Given the description of an element on the screen output the (x, y) to click on. 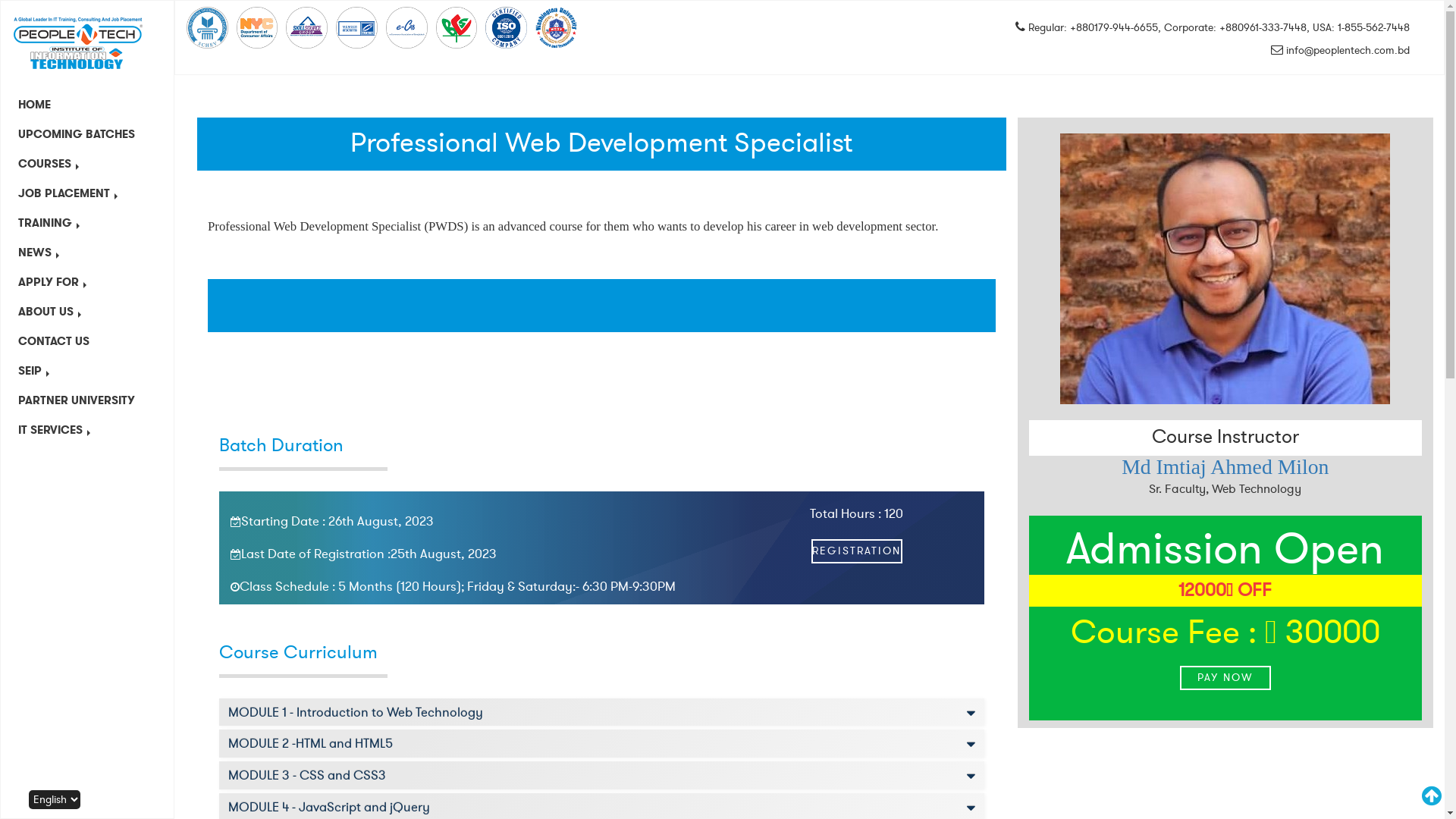
PAY NOW Element type: text (1225, 677)
APPLY FOR Element type: text (86, 282)
PeopleNTech Certification Element type: hover (257, 27)
JOB PLACEMENT Element type: text (86, 193)
HOME Element type: text (86, 104)
PeopleNTech Certification Element type: hover (556, 27)
PeopleNTech Institute of Information Technology Element type: hover (78, 43)
PeopleNTech Certification Element type: hover (207, 27)
PeopleNTech Certification Element type: hover (506, 27)
ABOUT US Element type: text (86, 311)
PeopleNTech Certification Element type: hover (306, 27)
PeopleNTech Certification Element type: hover (456, 27)
IT SERVICES Element type: text (86, 430)
MODULE 3 - CSS and CSS3 Element type: text (601, 775)
SEIP Element type: text (86, 370)
Md Imtiaj Ahmed Milon Element type: text (1225, 466)
TRAINING Element type: text (86, 223)
NEWS Element type: text (86, 252)
Md Imtiaj Ahmed Milon Element type: hover (1225, 268)
MODULE 2 -HTML and HTML5 Element type: text (601, 743)
PeopleNTech Certification Element type: hover (356, 27)
UPCOMING BATCHES Element type: text (86, 134)
MODULE 1 - Introduction to Web Technology Element type: text (601, 712)
PARTNER UNIVERSITY Element type: text (86, 400)
CONTACT US Element type: text (86, 341)
REGISTRATION Element type: text (856, 550)
COURSES Element type: text (86, 163)
PeopleNTech Certification Element type: hover (406, 27)
